Given the description of an element on the screen output the (x, y) to click on. 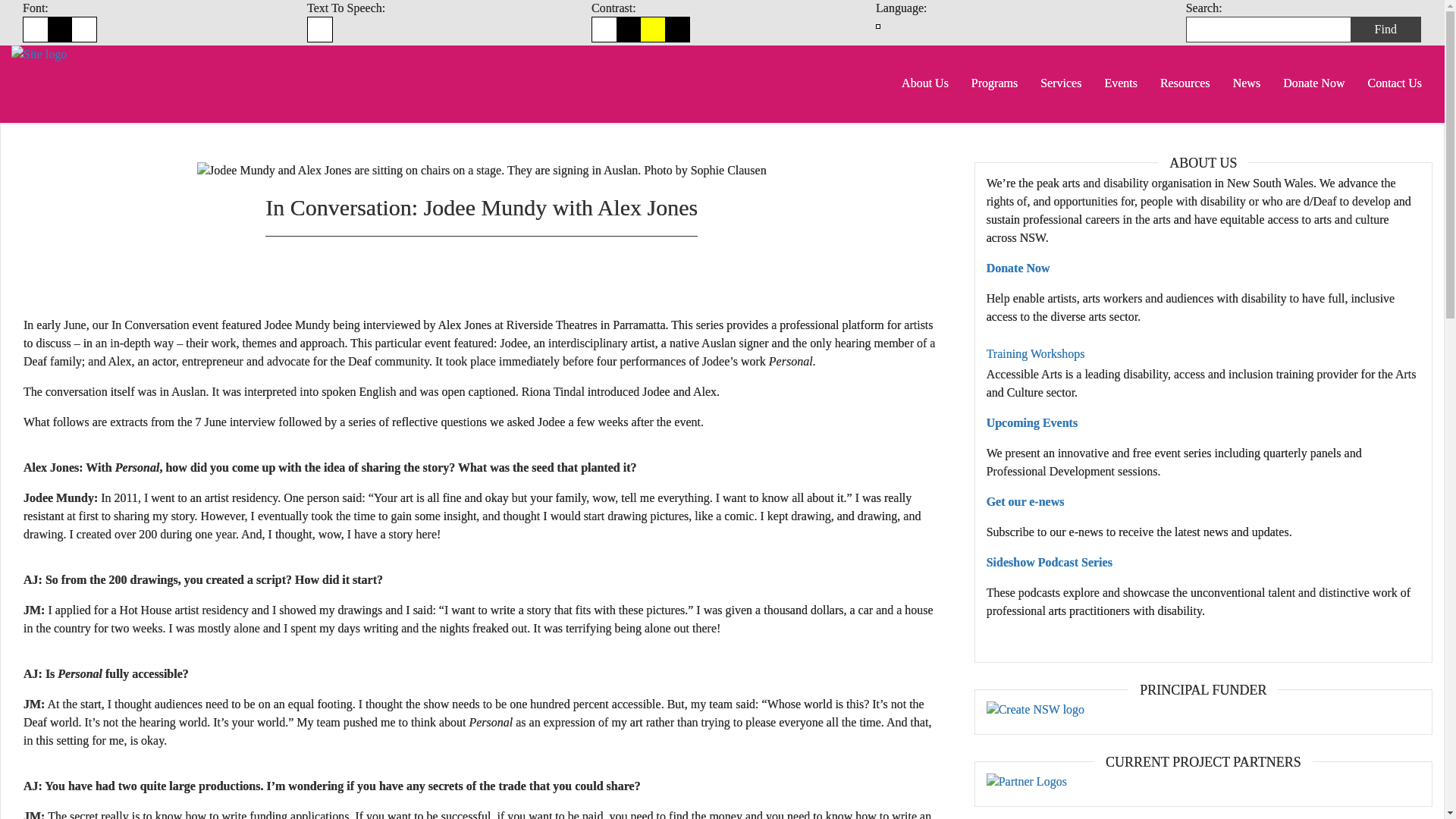
Find (1386, 29)
Reduce font size (35, 29)
Programs (994, 83)
Black and yellow contrast (652, 29)
White and black contrast (628, 29)
Increase font size (84, 29)
Text to speech (319, 29)
Default contrast (604, 29)
Donate Now (1313, 83)
Black and yellow contrast (652, 29)
Find (1386, 29)
Larger font (83, 29)
Default font (59, 29)
Default contrast (603, 29)
Contact Us (1393, 83)
